Given the description of an element on the screen output the (x, y) to click on. 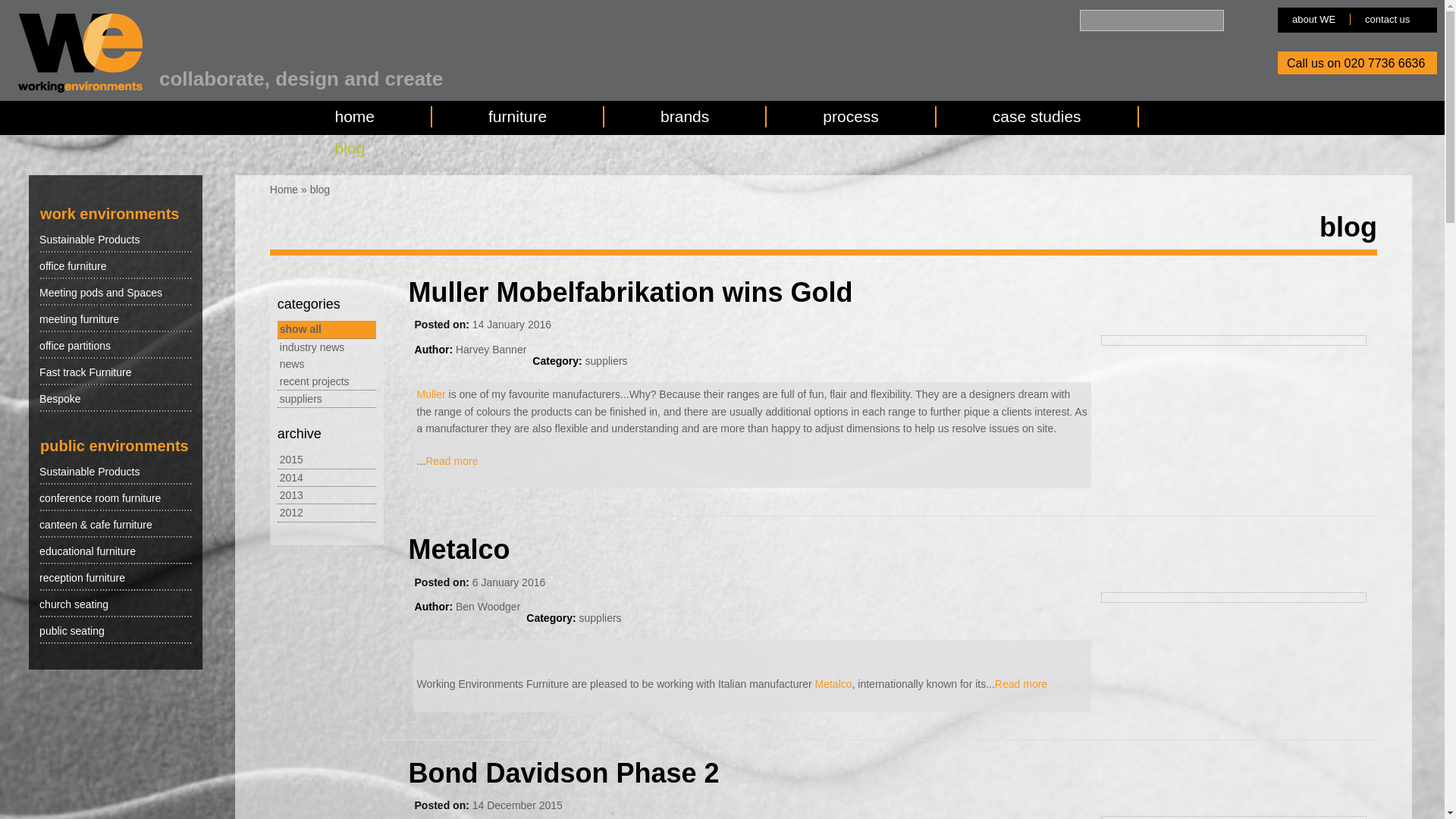
home (354, 116)
2012 (290, 512)
suppliers (300, 398)
office furniture (114, 265)
collaborate, design and create (300, 78)
case studies (1037, 116)
Muller (430, 394)
Metalco (460, 549)
2014 (290, 477)
Home (283, 189)
process (850, 116)
industry news (312, 346)
Sustainable Products (114, 239)
about WE (1313, 19)
brands (684, 116)
